Given the description of an element on the screen output the (x, y) to click on. 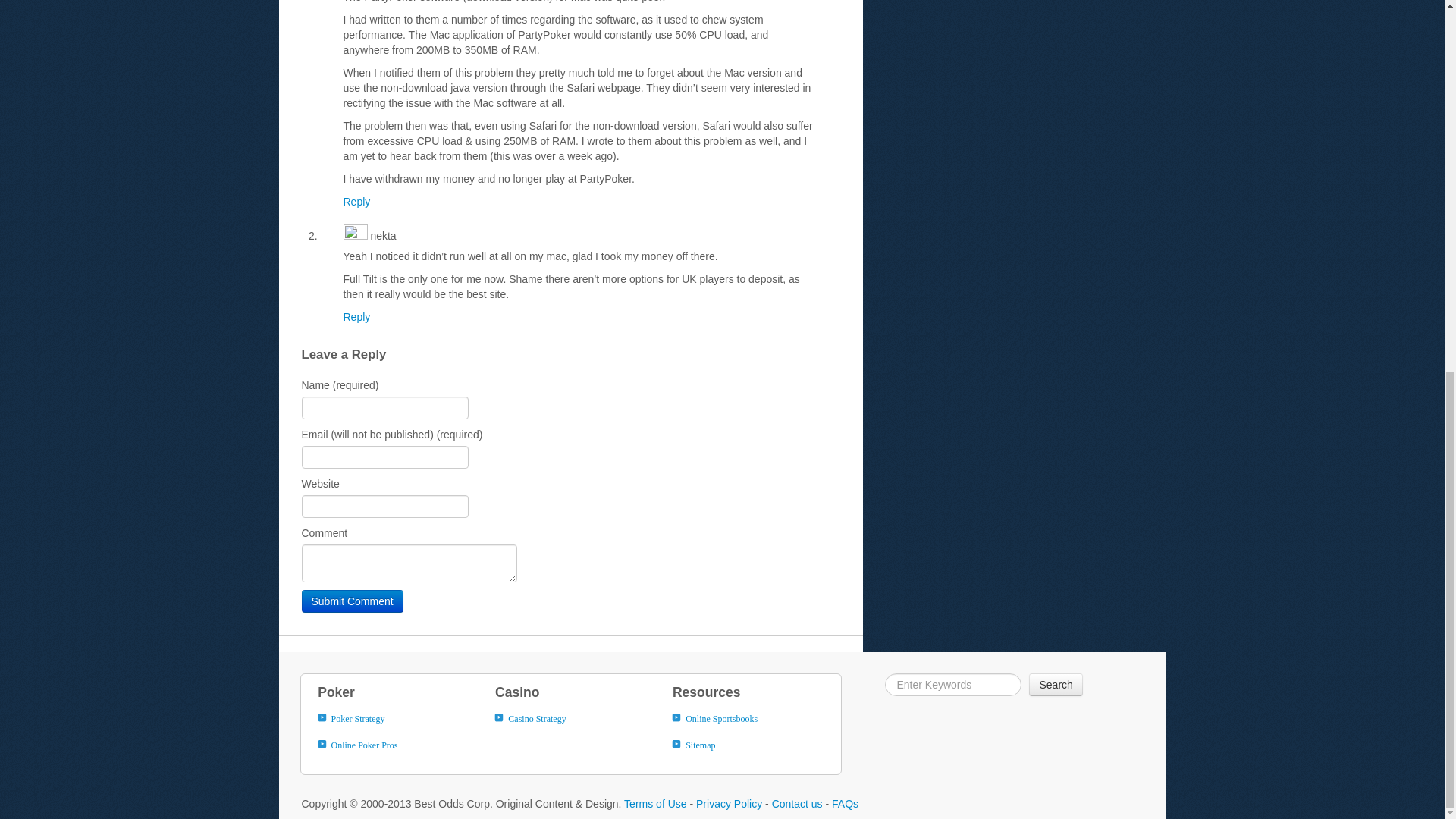
Reply (355, 201)
Search (1055, 684)
Submit Comment (352, 600)
Submit Comment (352, 600)
Reply (355, 316)
